Given the description of an element on the screen output the (x, y) to click on. 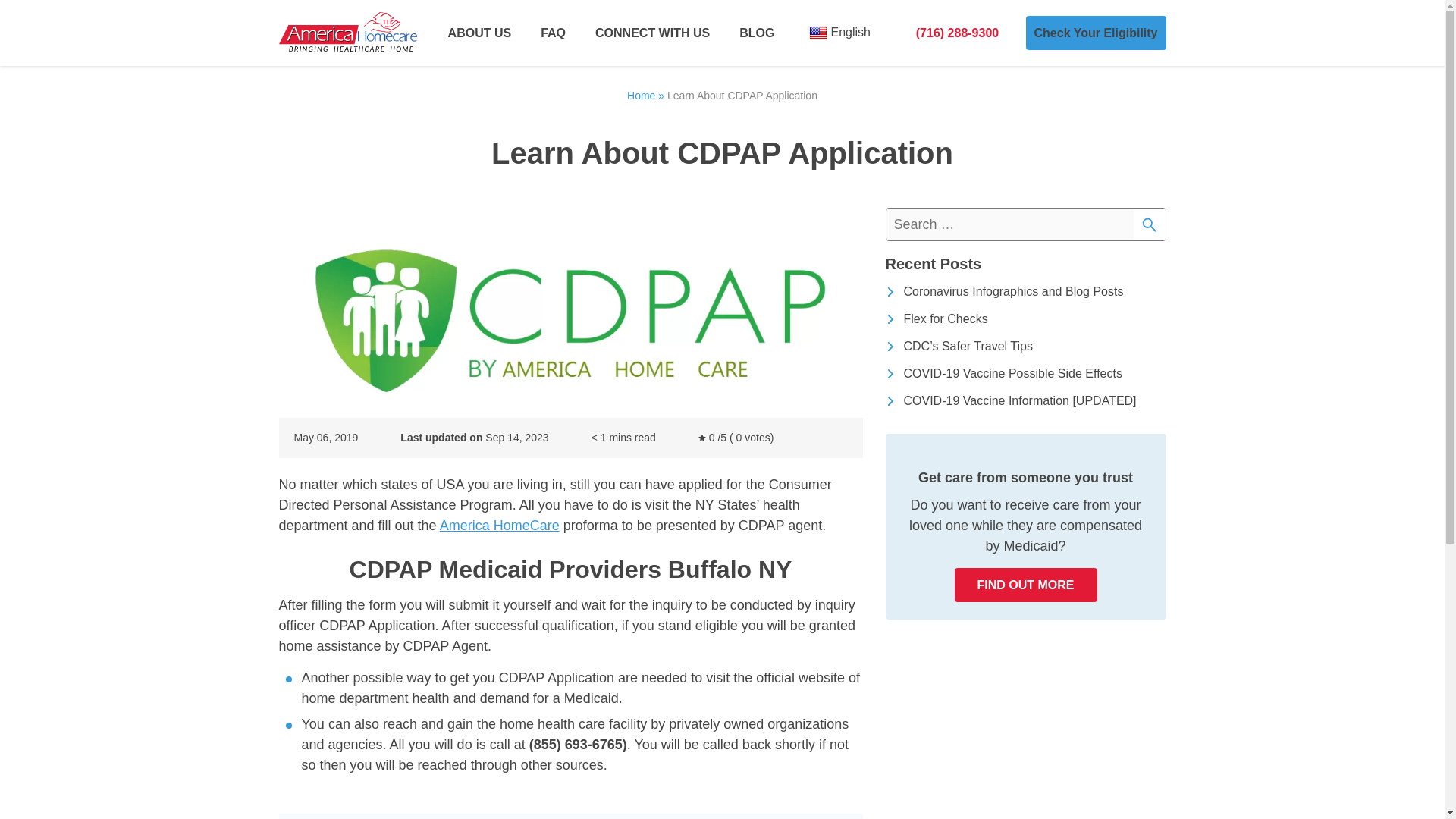
English (838, 32)
Search (1148, 224)
ABOUT US (480, 32)
BLOG (756, 32)
CONNECT WITH US (652, 32)
Search (1148, 224)
FAQ (553, 32)
English (838, 32)
